Given the description of an element on the screen output the (x, y) to click on. 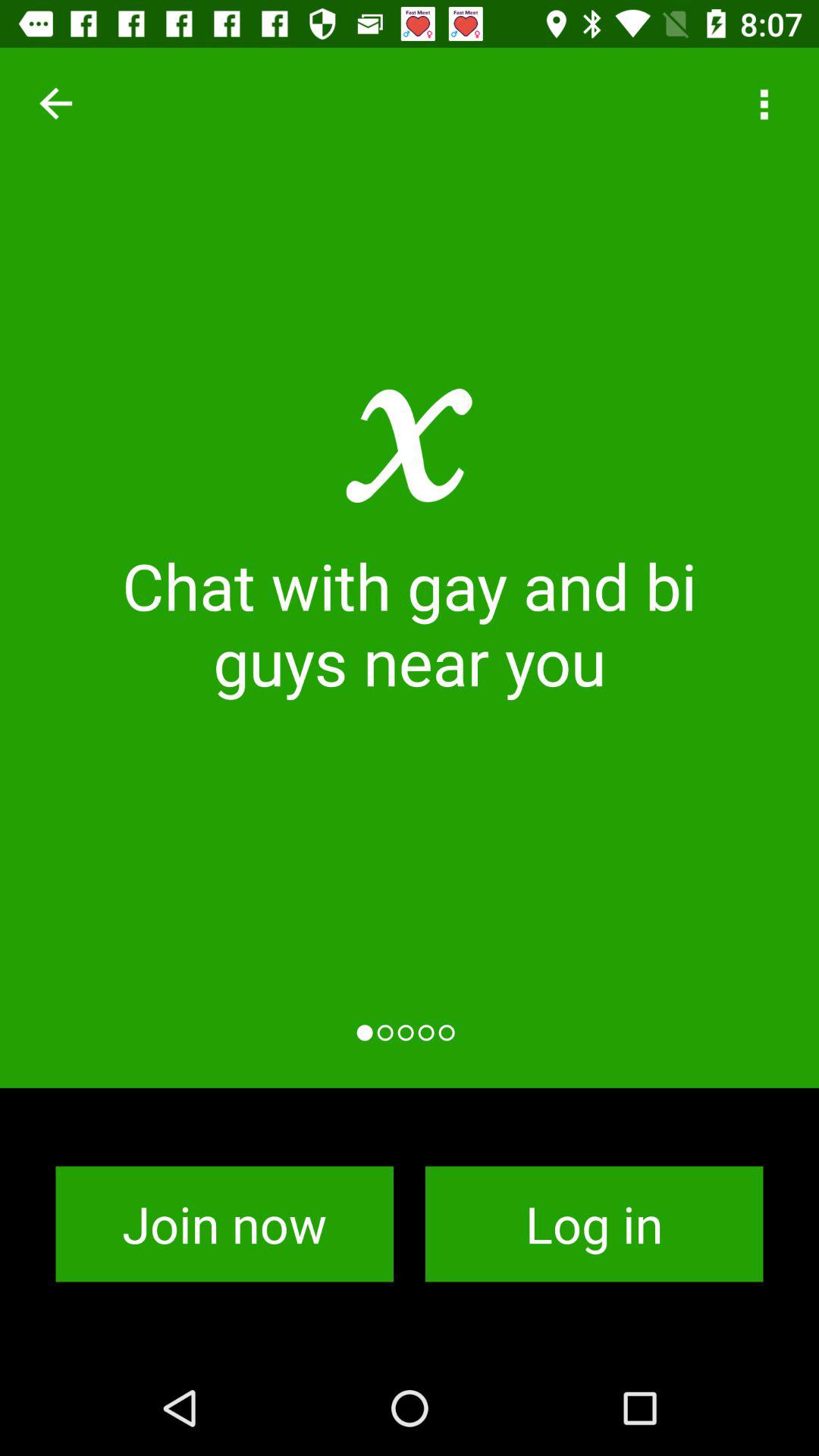
back page (55, 103)
